Given the description of an element on the screen output the (x, y) to click on. 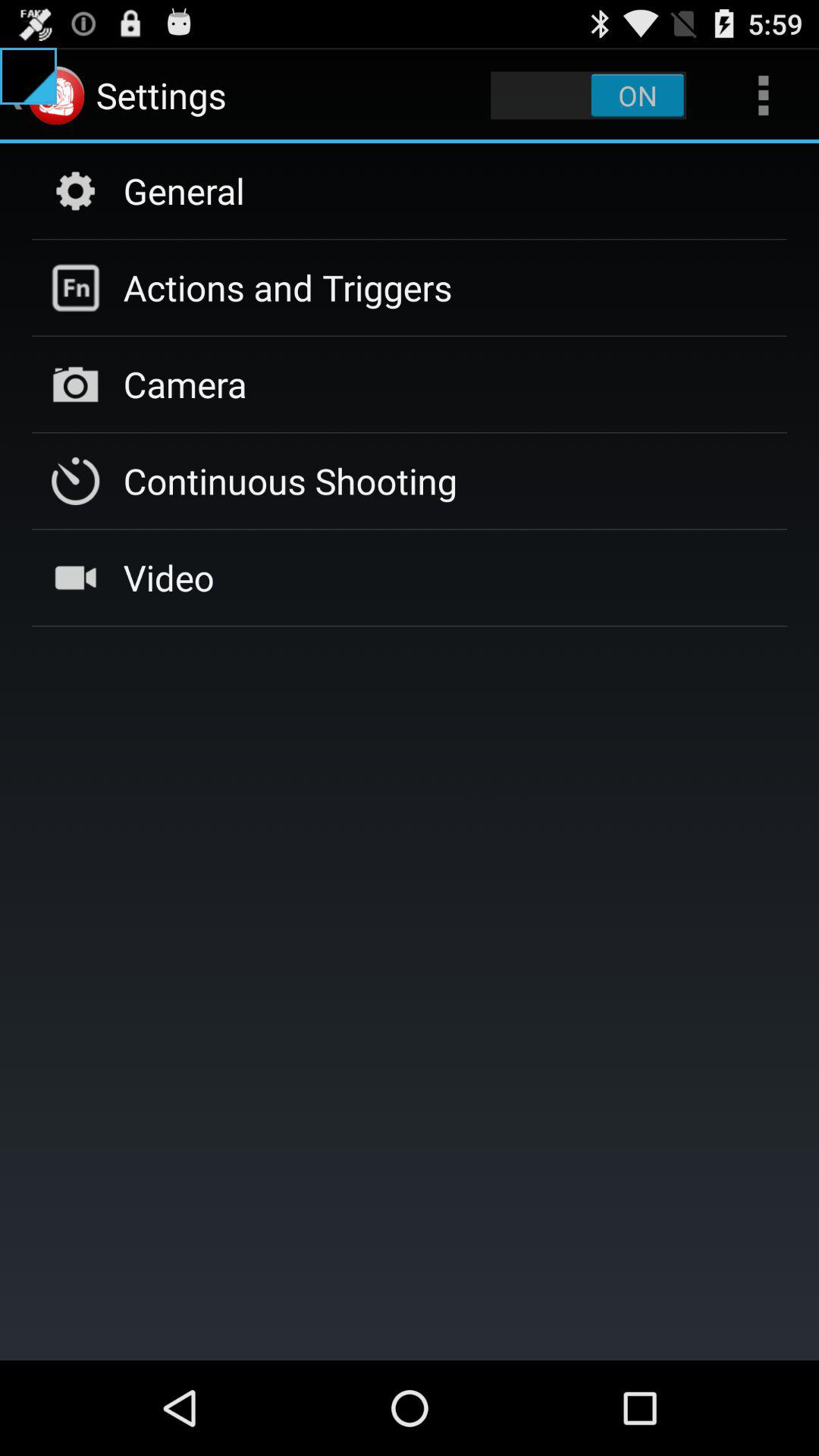
choose app to the right of settings (588, 95)
